Given the description of an element on the screen output the (x, y) to click on. 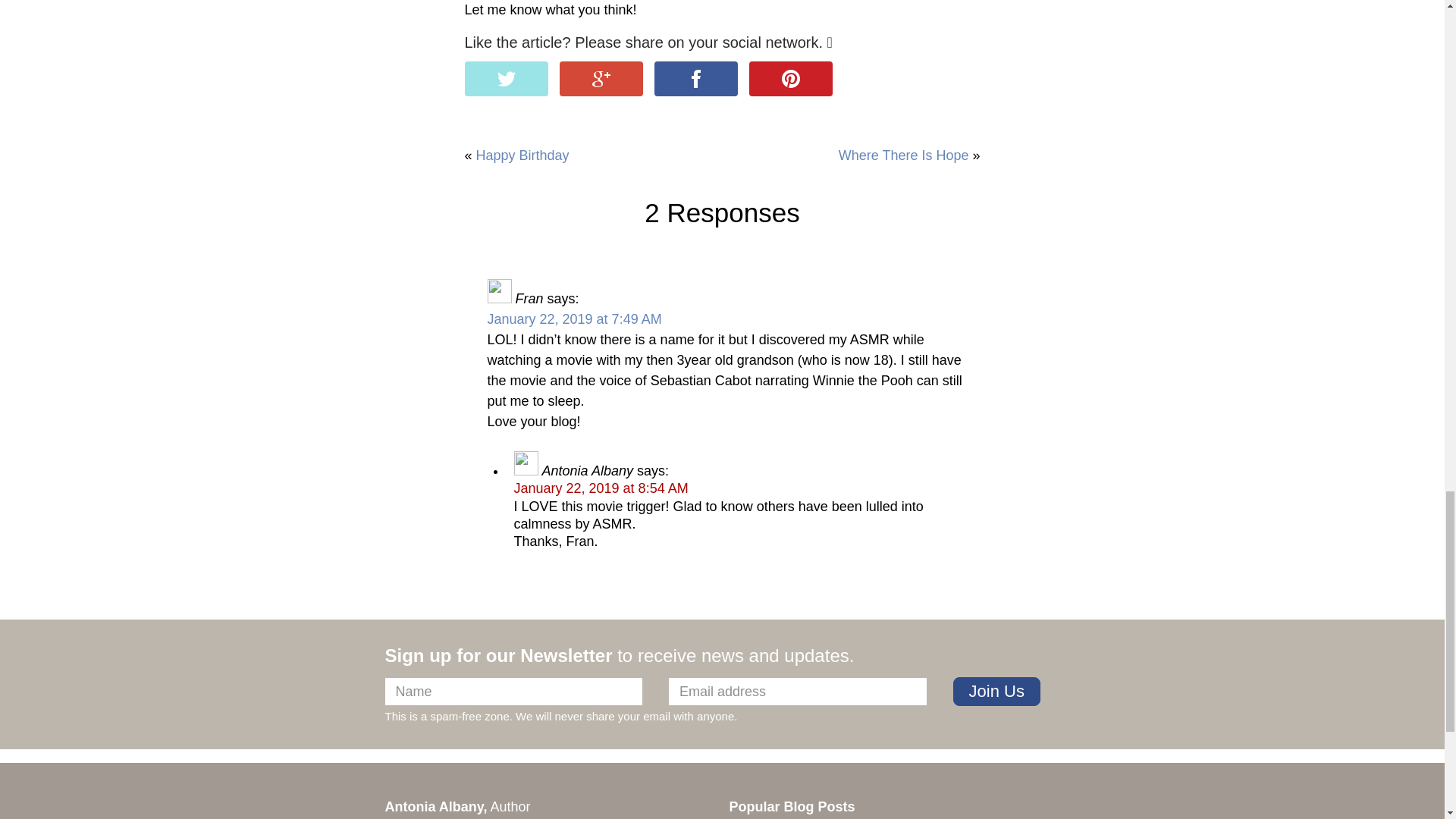
Share this post on Twitter! (505, 78)
Where There Is Hope (903, 155)
Share this post on Facebook! (695, 78)
January 22, 2019 at 8:54 AM (600, 488)
Twitter (505, 78)
January 22, 2019 at 7:49 AM (573, 319)
Happy Birthday (522, 155)
Name (514, 691)
Facebook (695, 78)
Email address (797, 691)
